Given the description of an element on the screen output the (x, y) to click on. 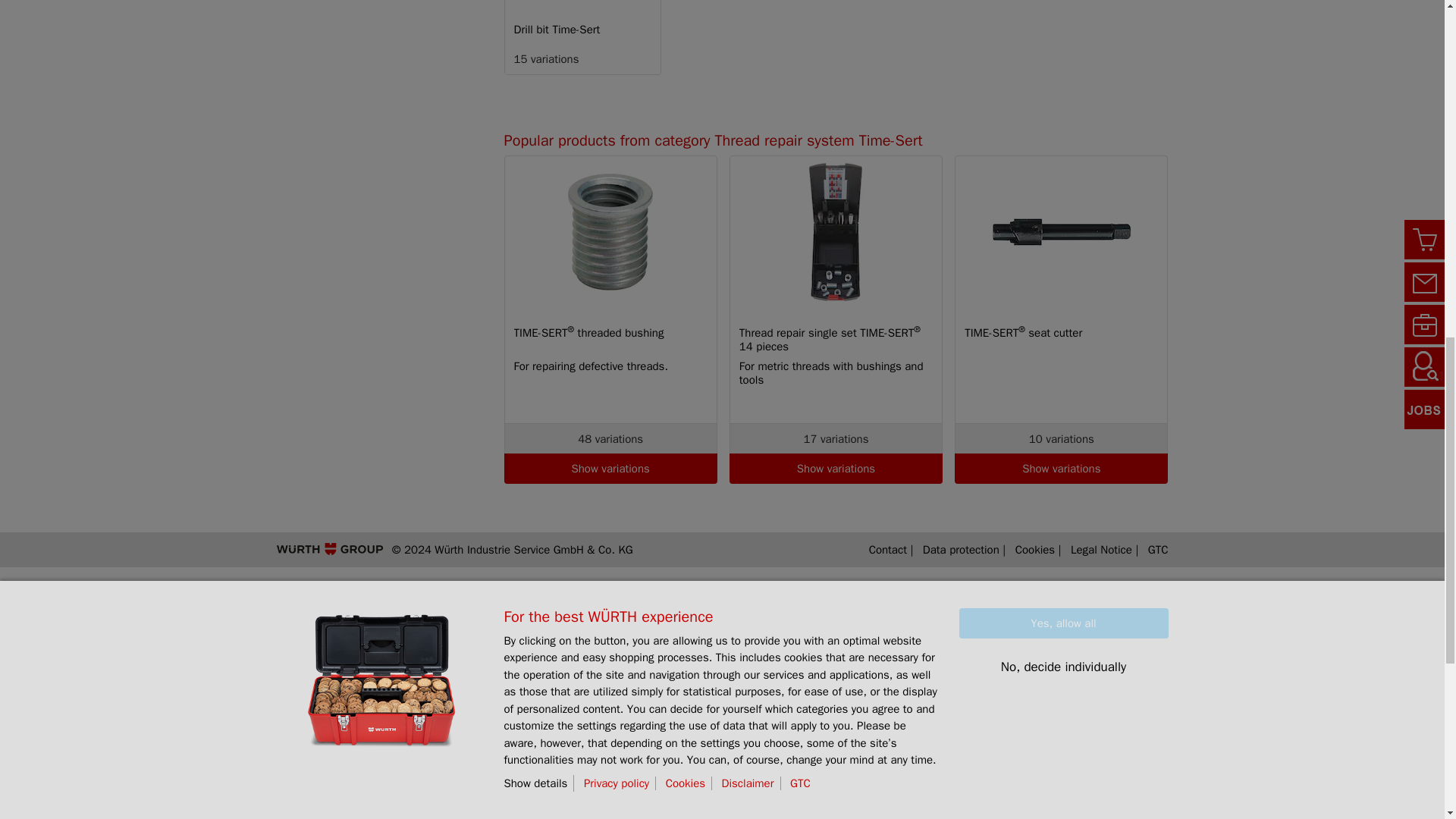
e-Commerce (311, 704)
Success Stories (322, 801)
Workstation (309, 684)
Vending machines (327, 743)
Supply security (318, 646)
C-Parts. With certainty. (340, 627)
Hazardous materials management (372, 762)
Kanban (297, 666)
Product range (541, 627)
Industries (303, 781)
